Given the description of an element on the screen output the (x, y) to click on. 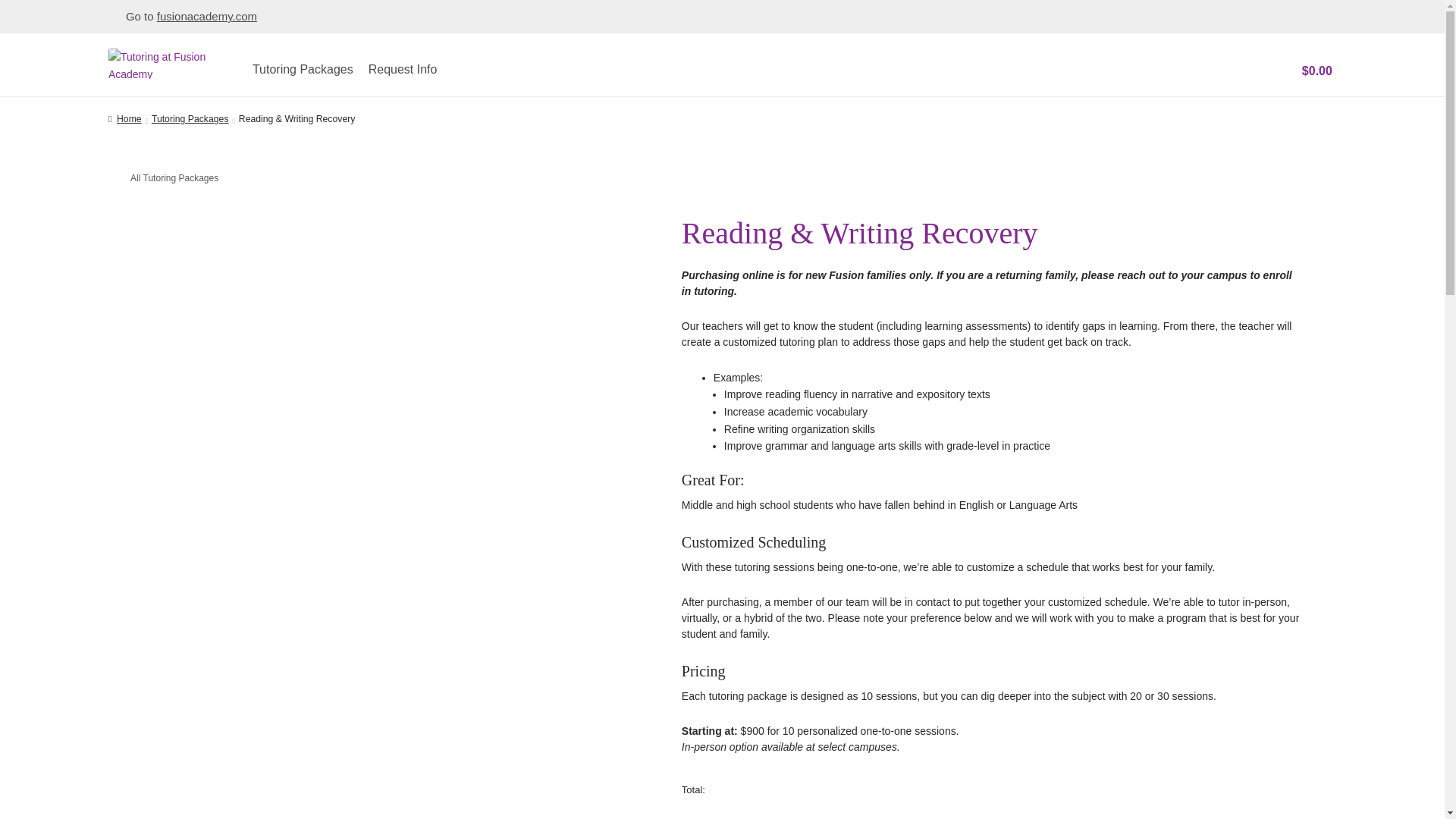
Tutoring Packages (302, 69)
All Tutoring Packages (166, 177)
View your shopping cart (1304, 70)
Home (124, 118)
Tutoring Packages (189, 118)
Go to fusionacademy.com (182, 15)
Request Info (403, 69)
